Given the description of an element on the screen output the (x, y) to click on. 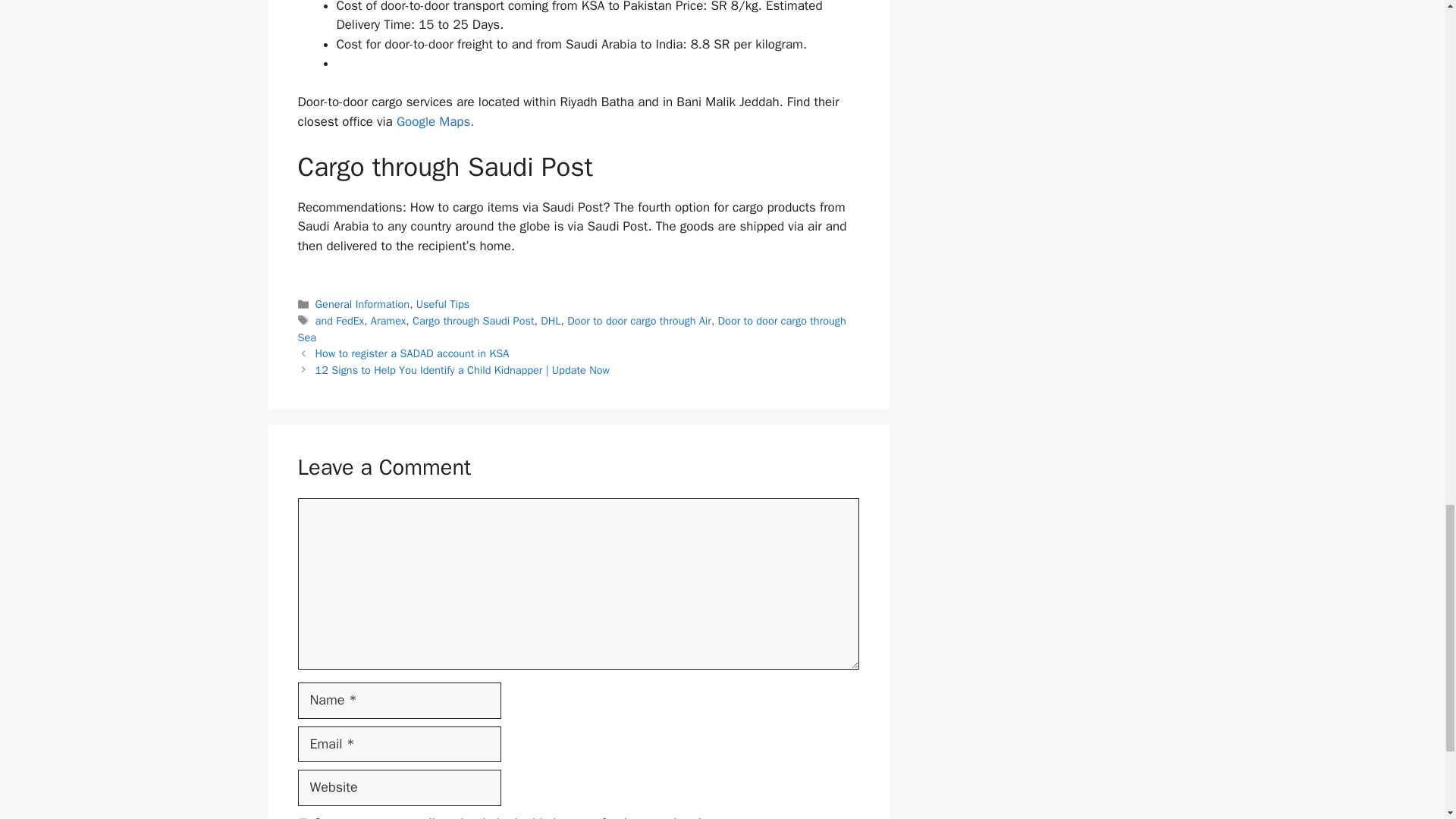
DHL (550, 320)
Google Maps. (435, 121)
Cargo through Saudi Post (473, 320)
Useful Tips (442, 304)
and FedEx (340, 320)
General Information (362, 304)
Aramex (388, 320)
